Given the description of an element on the screen output the (x, y) to click on. 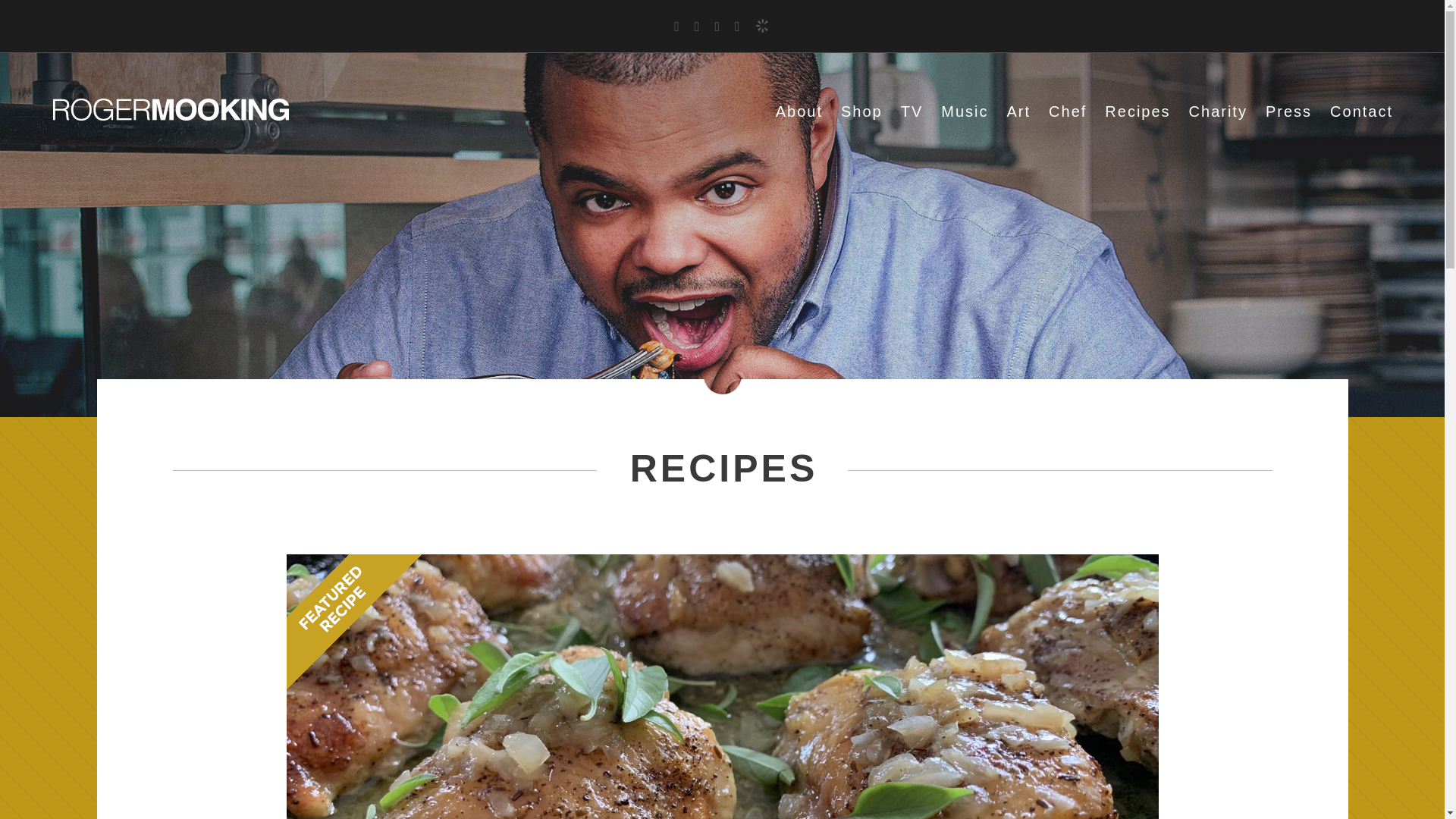
Charity (1218, 111)
Recipes (1137, 111)
Contact (1361, 111)
Art (1018, 111)
About (799, 111)
TV (912, 111)
Press (1288, 111)
Shop (861, 111)
Music (964, 111)
Chef (1067, 111)
